Given the description of an element on the screen output the (x, y) to click on. 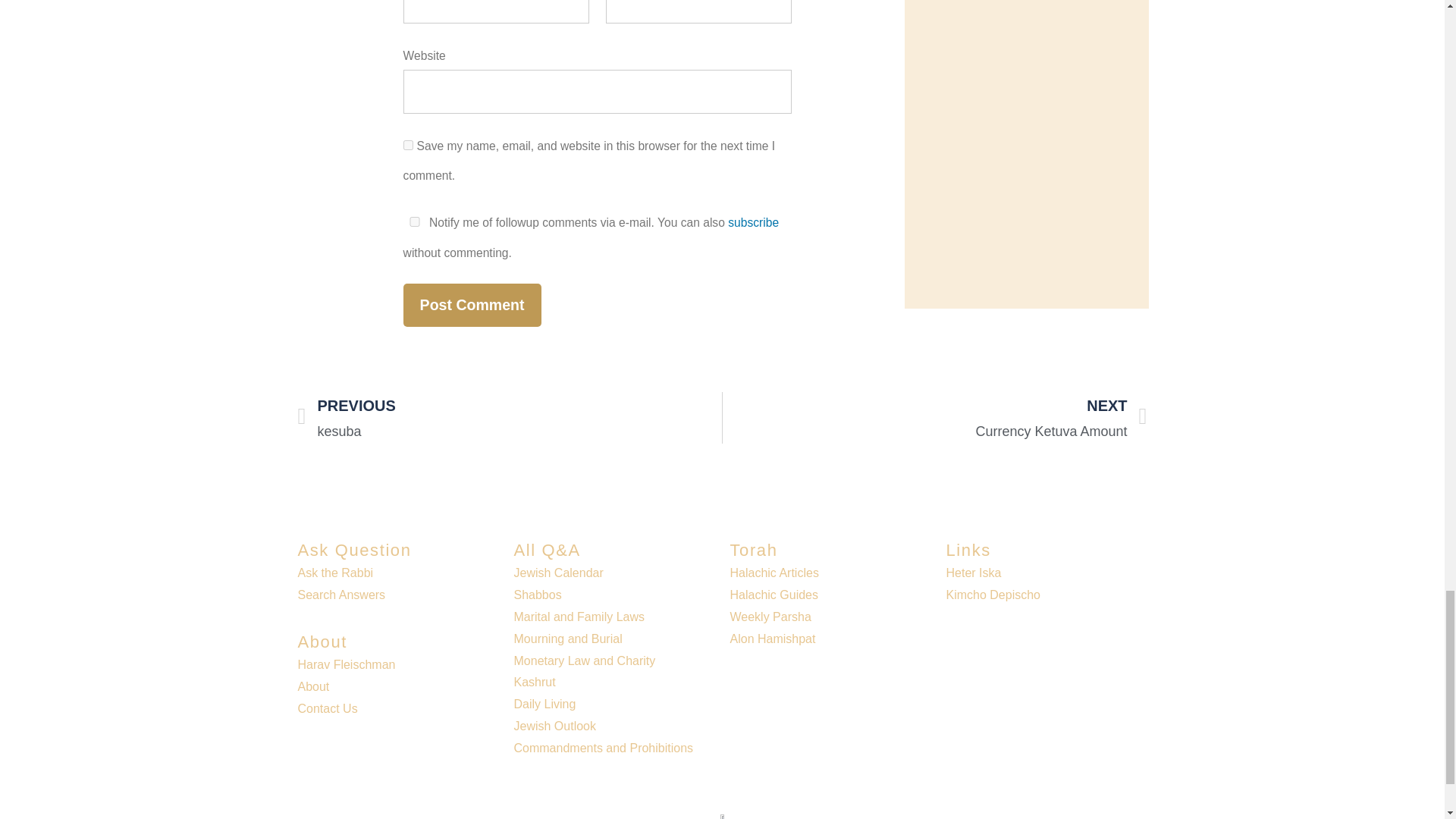
Post Comment (472, 304)
subscribe (753, 222)
Post Comment (472, 304)
yes (414, 221)
yes (408, 144)
